Given the description of an element on the screen output the (x, y) to click on. 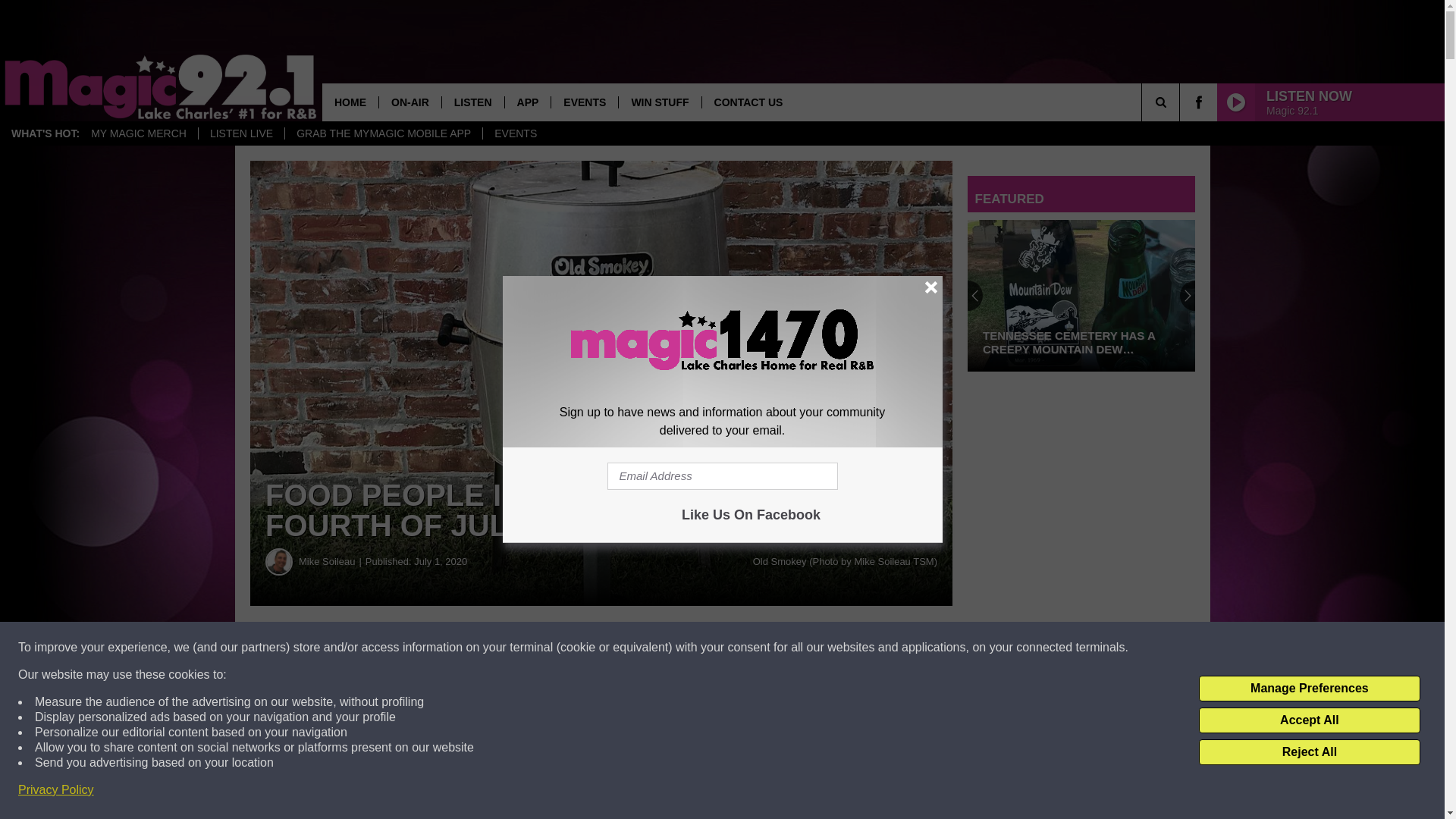
EVENTS (514, 133)
ON-AIR (409, 102)
Email Address (722, 475)
Manage Preferences (1309, 688)
LISTEN (472, 102)
MY MAGIC MERCH (139, 133)
SEARCH (1182, 102)
LISTEN LIVE (240, 133)
GRAB THE MYMAGIC MOBILE APP (382, 133)
Accept All (1309, 720)
HOME (349, 102)
Reject All (1309, 751)
SEARCH (1182, 102)
WIN STUFF (658, 102)
EVENTS (583, 102)
